Given the description of an element on the screen output the (x, y) to click on. 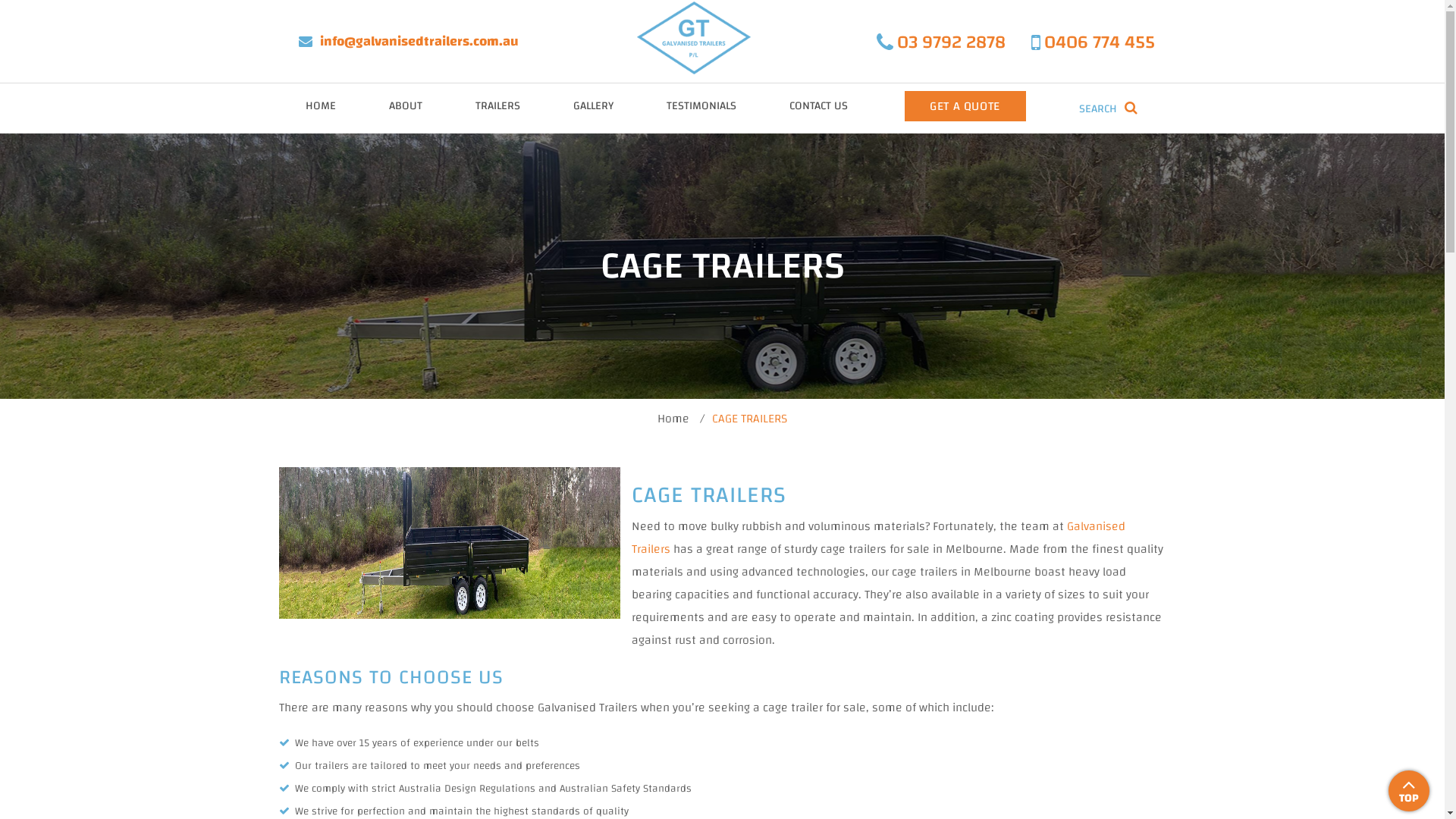
TESTIMONIALS Element type: text (701, 106)
0406 774 455 Element type: text (1092, 41)
GET A QUOTE Element type: text (964, 106)
HOME Element type: text (320, 106)
SEARCH Element type: text (1107, 109)
03 9792 2878 Element type: text (940, 41)
Trailers For Sale | Trailers For Sale Melbourne Element type: hover (693, 37)
Galvanised Trailers Element type: text (877, 537)
Home Element type: text (673, 418)
GALLERY Element type: text (592, 106)
info@galvanisedtrailers.com.au Element type: text (410, 40)
ABOUT Element type: text (405, 106)
TRAILERS Element type: text (497, 106)
CONTACT US Element type: text (818, 106)
